Given the description of an element on the screen output the (x, y) to click on. 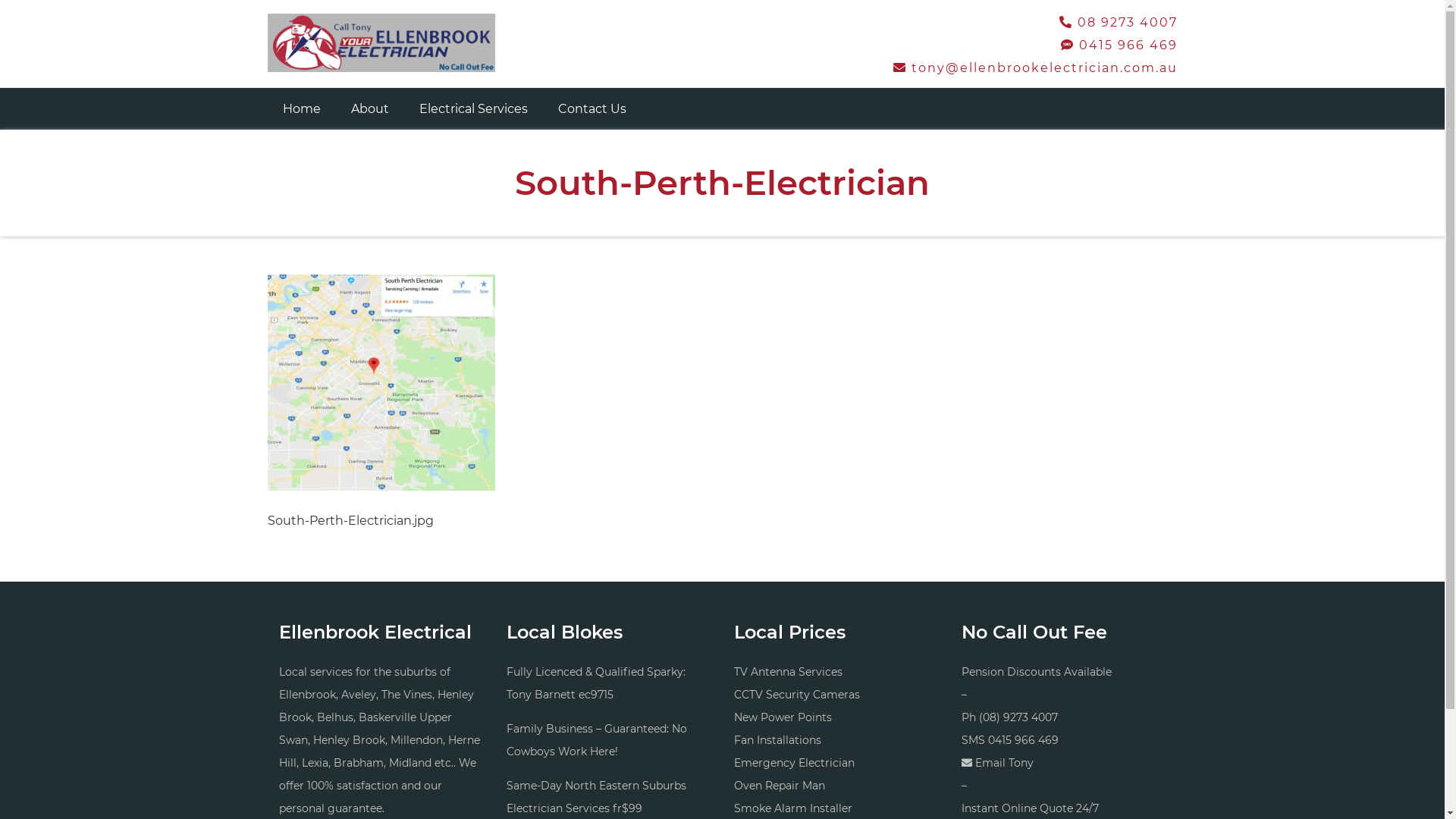
TV Antenna Services Element type: text (788, 671)
Contact Us Element type: text (591, 108)
08 9273 4007 Element type: text (1117, 22)
0415 966 469 Element type: text (1118, 44)
tony@ellenbrookelectrician.com.au Element type: text (1035, 67)
(08) 9273 4007 Element type: text (1017, 717)
New Power Points Element type: text (782, 717)
Electrical Services Element type: text (472, 108)
Oven Repair Man Element type: text (779, 785)
Emergency Electrician Element type: text (794, 762)
Home Element type: text (300, 108)
0415 966 469 Element type: text (1022, 739)
Smoke Alarm Installe Element type: text (790, 808)
About Element type: text (369, 108)
CCTV Security Cameras Element type: text (796, 694)
Email Tony Element type: text (1004, 762)
Instant Online Quote 24/7 Element type: text (1029, 808)
Fan Installations Element type: text (777, 739)
